Given the description of an element on the screen output the (x, y) to click on. 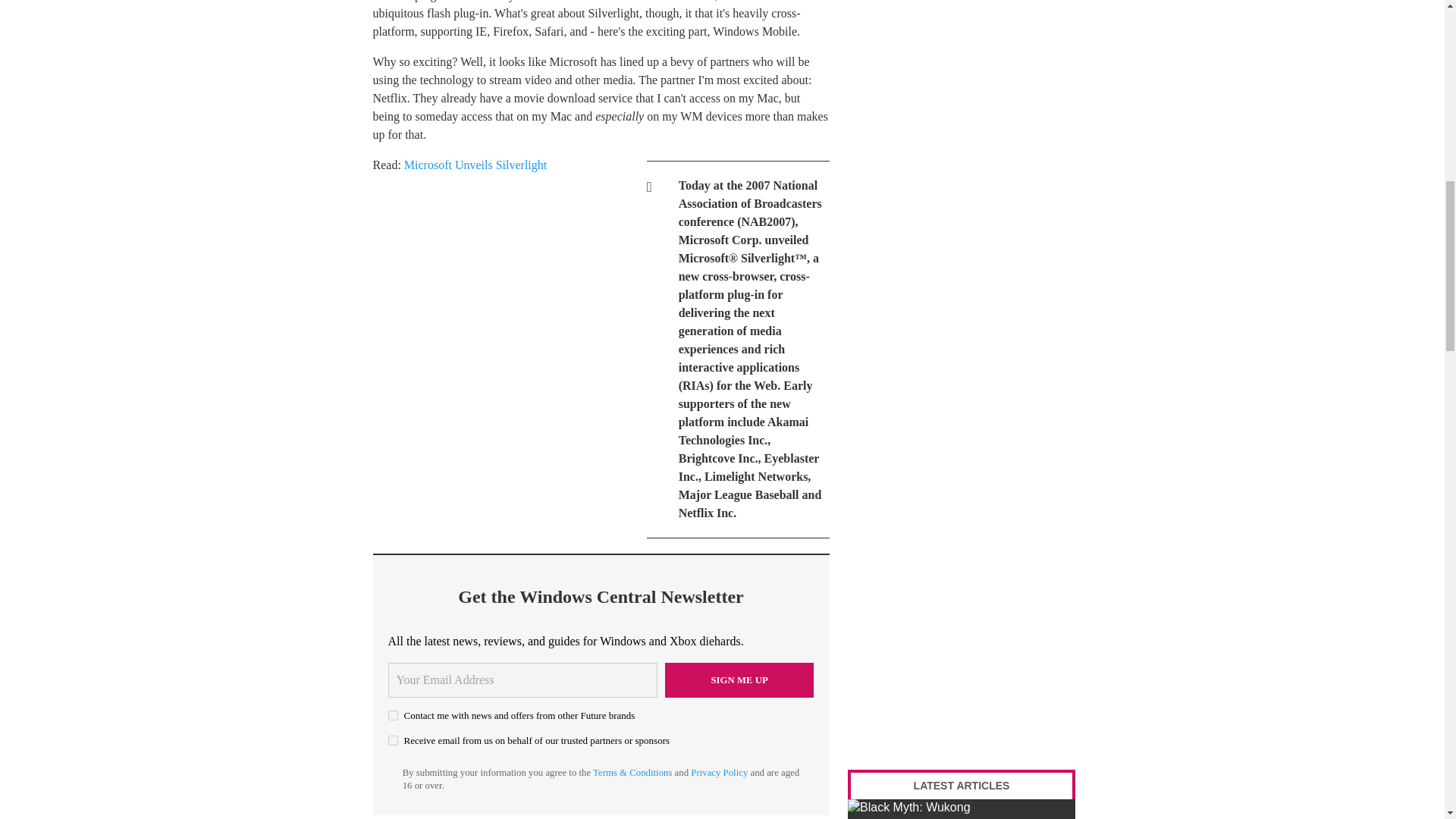
Sign me up (739, 679)
on (392, 740)
on (392, 715)
Microsoft Unveils Silverlight (475, 164)
Sign me up (739, 679)
Privacy Policy (719, 772)
